Given the description of an element on the screen output the (x, y) to click on. 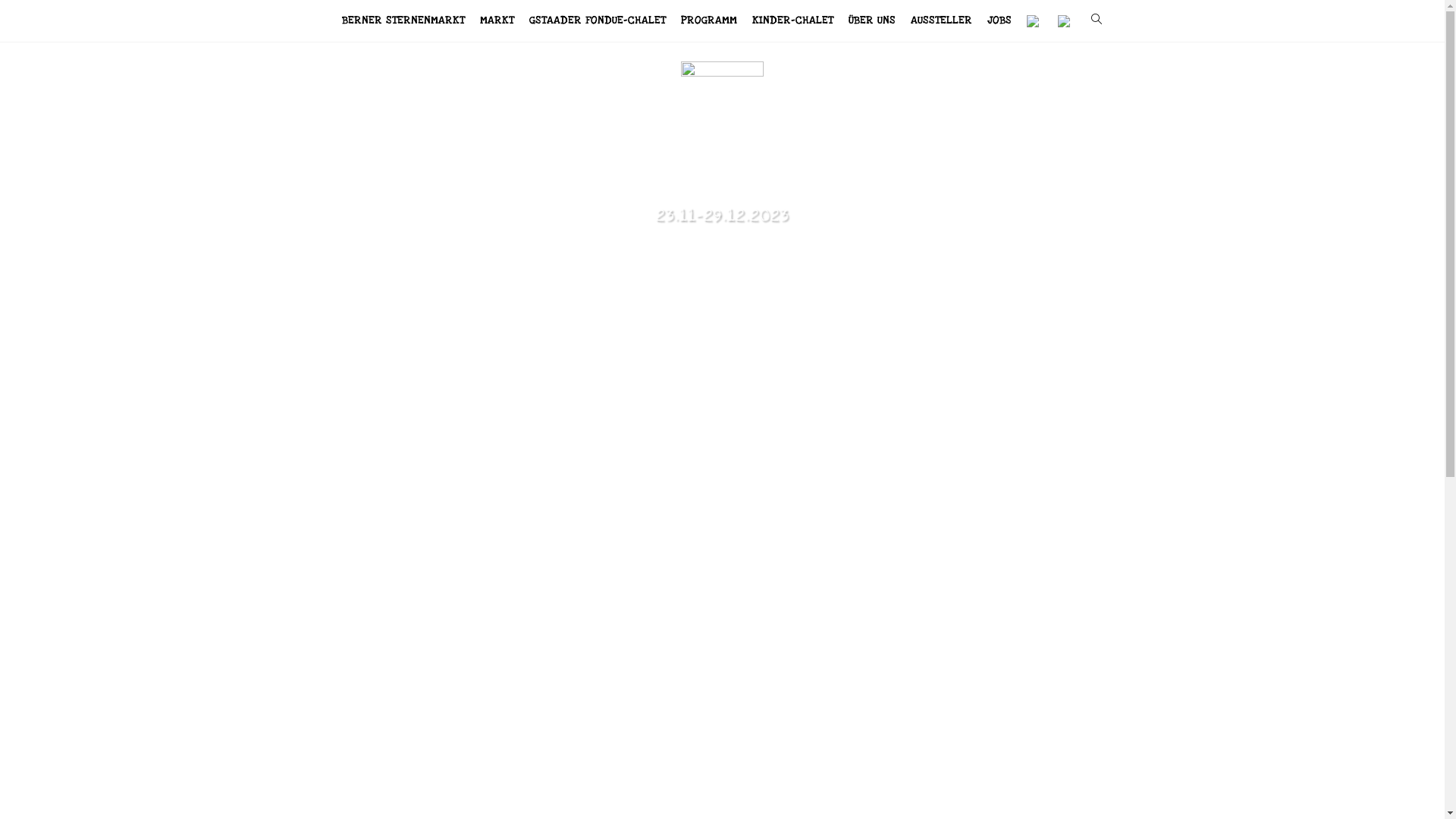
MARKT Element type: text (496, 20)
GSTAADER FONDUE-CHALET Element type: text (597, 20)
JOBS Element type: text (999, 20)
PROGRAMM Element type: text (708, 20)
AUSSTELLER Element type: text (941, 20)
KINDER-CHALET Element type: text (792, 20)
BERNER STERNENMARKT Element type: text (403, 20)
